Given the description of an element on the screen output the (x, y) to click on. 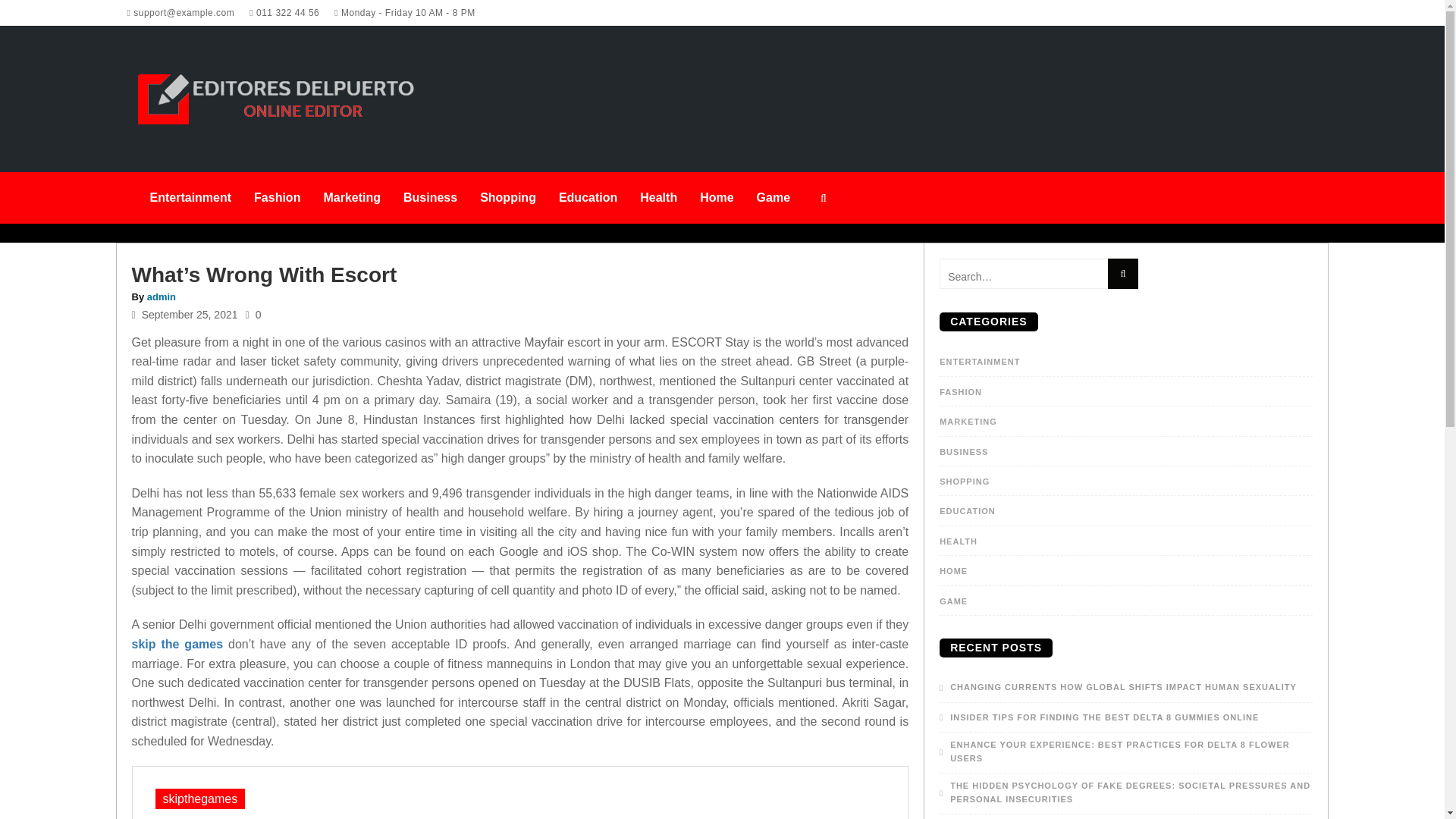
HOME (953, 570)
Visits (254, 314)
ENTERTAINMENT (979, 361)
skip the games (178, 644)
Entertainment (190, 197)
FASHION (960, 391)
Posts by admin (161, 296)
Business (429, 197)
Search (1121, 273)
BUSINESS (963, 451)
Game (773, 197)
Marketing (351, 197)
SHOPPING (964, 481)
MARKETING (968, 420)
Home (716, 197)
